Given the description of an element on the screen output the (x, y) to click on. 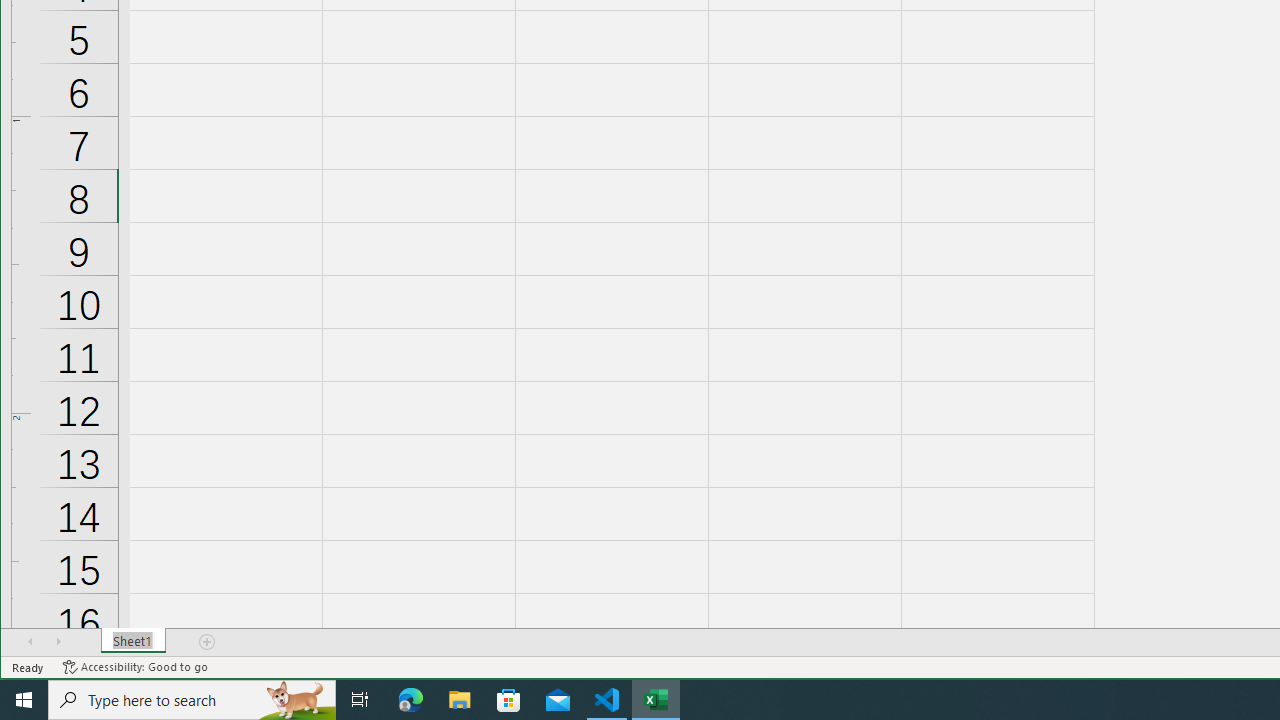
Task View (359, 699)
Type here to search (191, 699)
Excel - 1 running window (656, 699)
Microsoft Edge (411, 699)
Sheet Tab (133, 641)
Microsoft Store (509, 699)
File Explorer (460, 699)
Search highlights icon opens search home window (295, 699)
Start (24, 699)
